Given the description of an element on the screen output the (x, y) to click on. 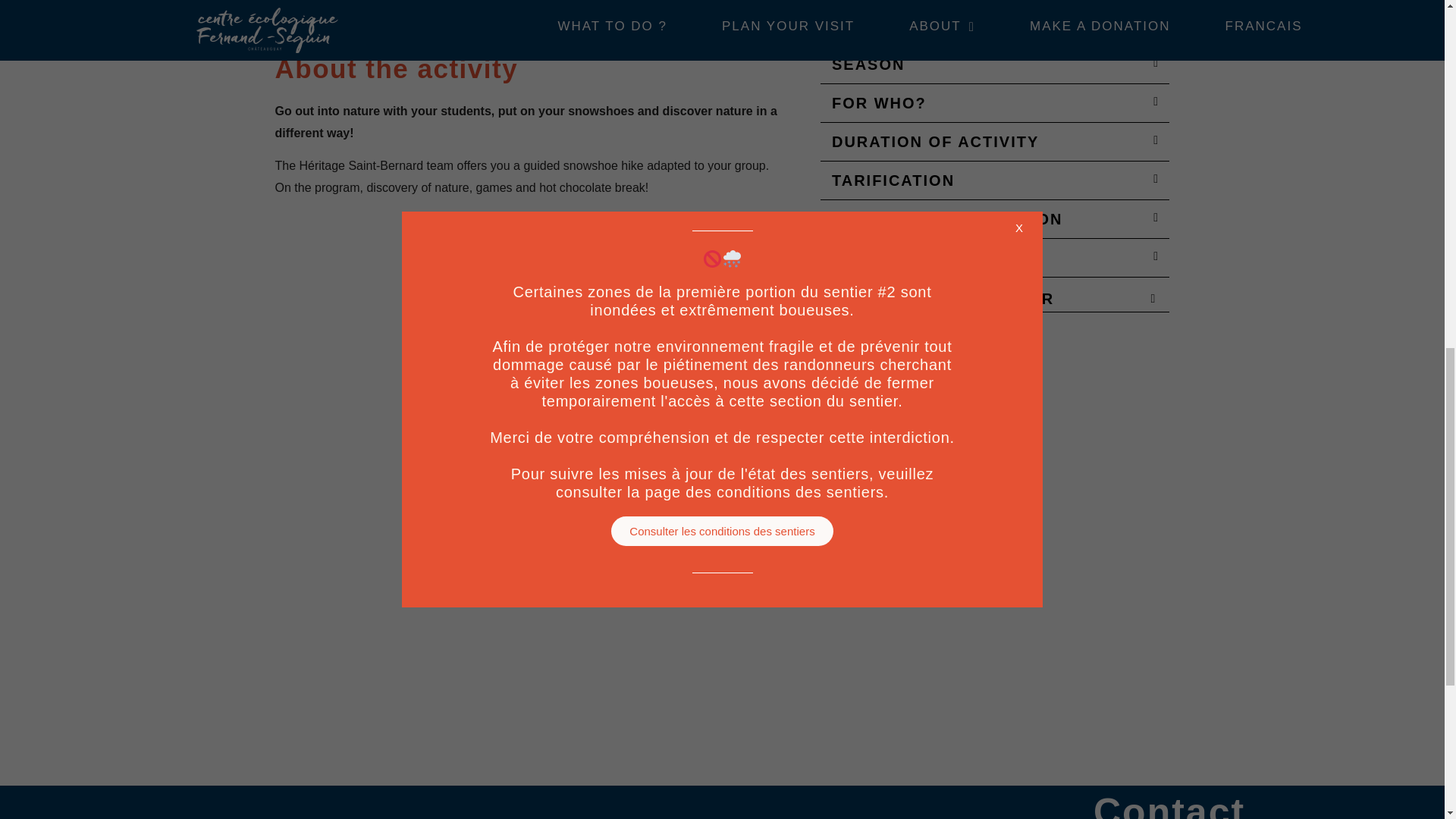
SEASON (867, 64)
WHERE (863, 25)
